Given the description of an element on the screen output the (x, y) to click on. 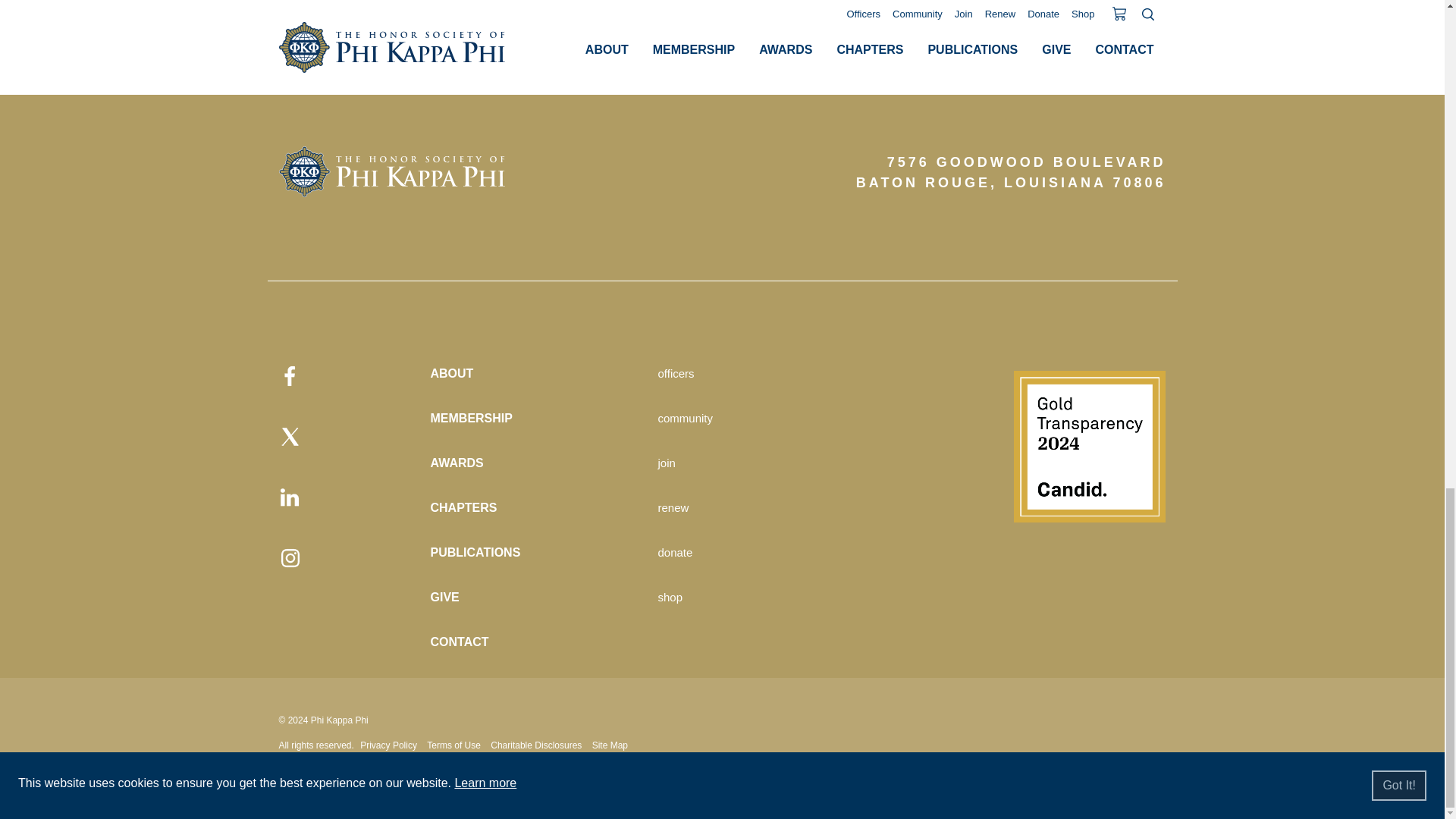
candid-seal-gold-2024 (1089, 446)
Terms of Use (453, 745)
Search input (718, 803)
